Given the description of an element on the screen output the (x, y) to click on. 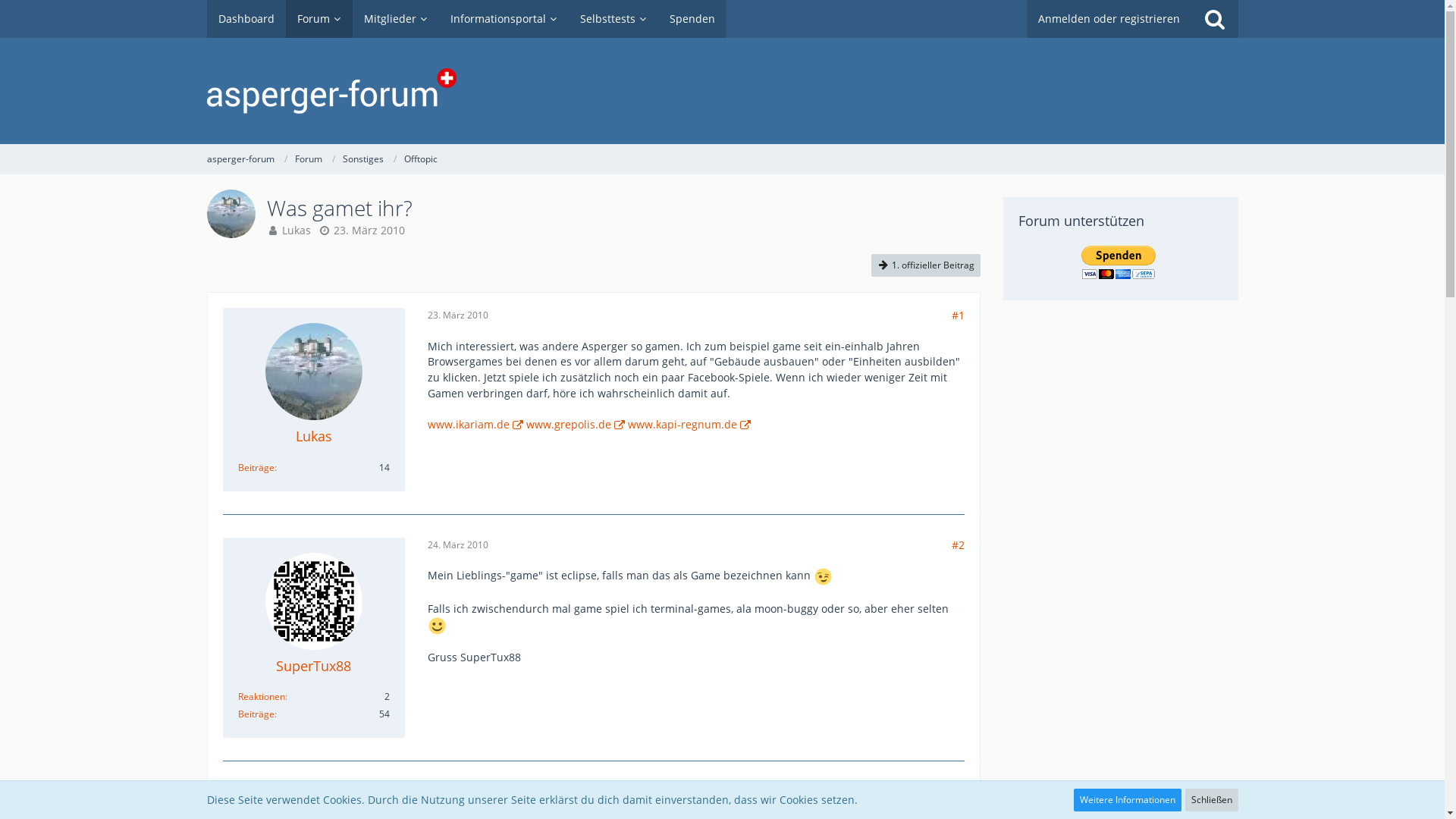
SuperTux88 Element type: text (313, 665)
1. offizieller Beitrag Element type: text (924, 265)
Offtopic Element type: text (419, 158)
Spenden Element type: text (692, 18)
Lukas Element type: text (296, 229)
www.grepolis.de Element type: text (575, 424)
Informationsportal Element type: text (502, 18)
asperger-forum Element type: text (239, 158)
Forum Element type: text (307, 158)
#1 Element type: text (956, 314)
Mitglieder Element type: text (394, 18)
wink Element type: hover (822, 576)
Weitere Informationen Element type: text (1127, 799)
Selbsttests Element type: text (613, 18)
Forum Element type: text (318, 18)
Sonstiges Element type: text (362, 158)
PayPal - Spenden Element type: hover (1118, 262)
Anmelden oder registrieren Element type: text (1108, 18)
smile Element type: hover (436, 625)
#3 Element type: text (956, 791)
Reaktionen Element type: text (261, 696)
www.ikariam.de Element type: text (475, 424)
Dashboard Element type: text (245, 18)
#2 Element type: text (956, 544)
Lukas Element type: text (313, 436)
www.kapi-regnum.de Element type: text (688, 424)
